Given the description of an element on the screen output the (x, y) to click on. 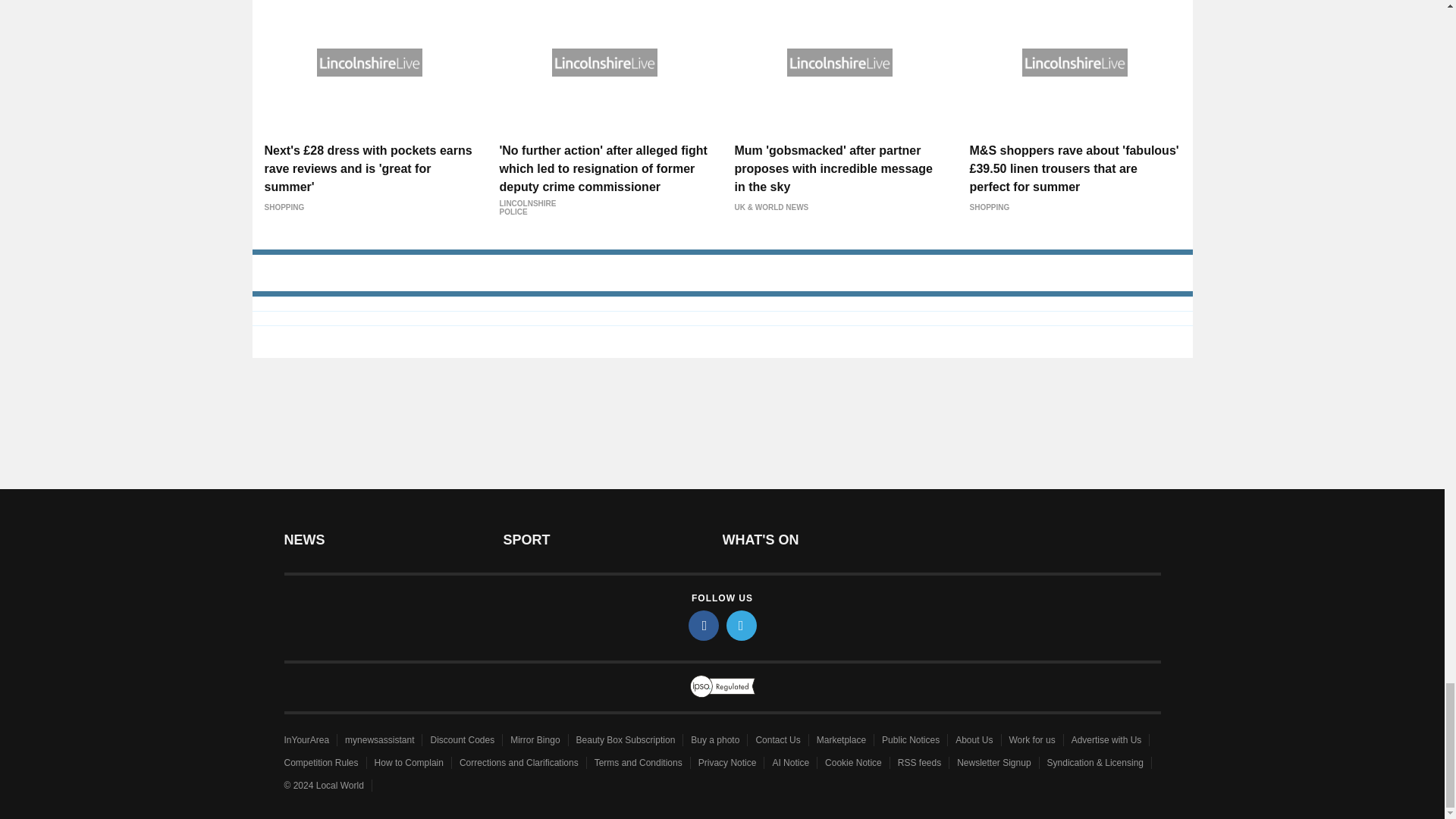
twitter (741, 625)
facebook (703, 625)
